Given the description of an element on the screen output the (x, y) to click on. 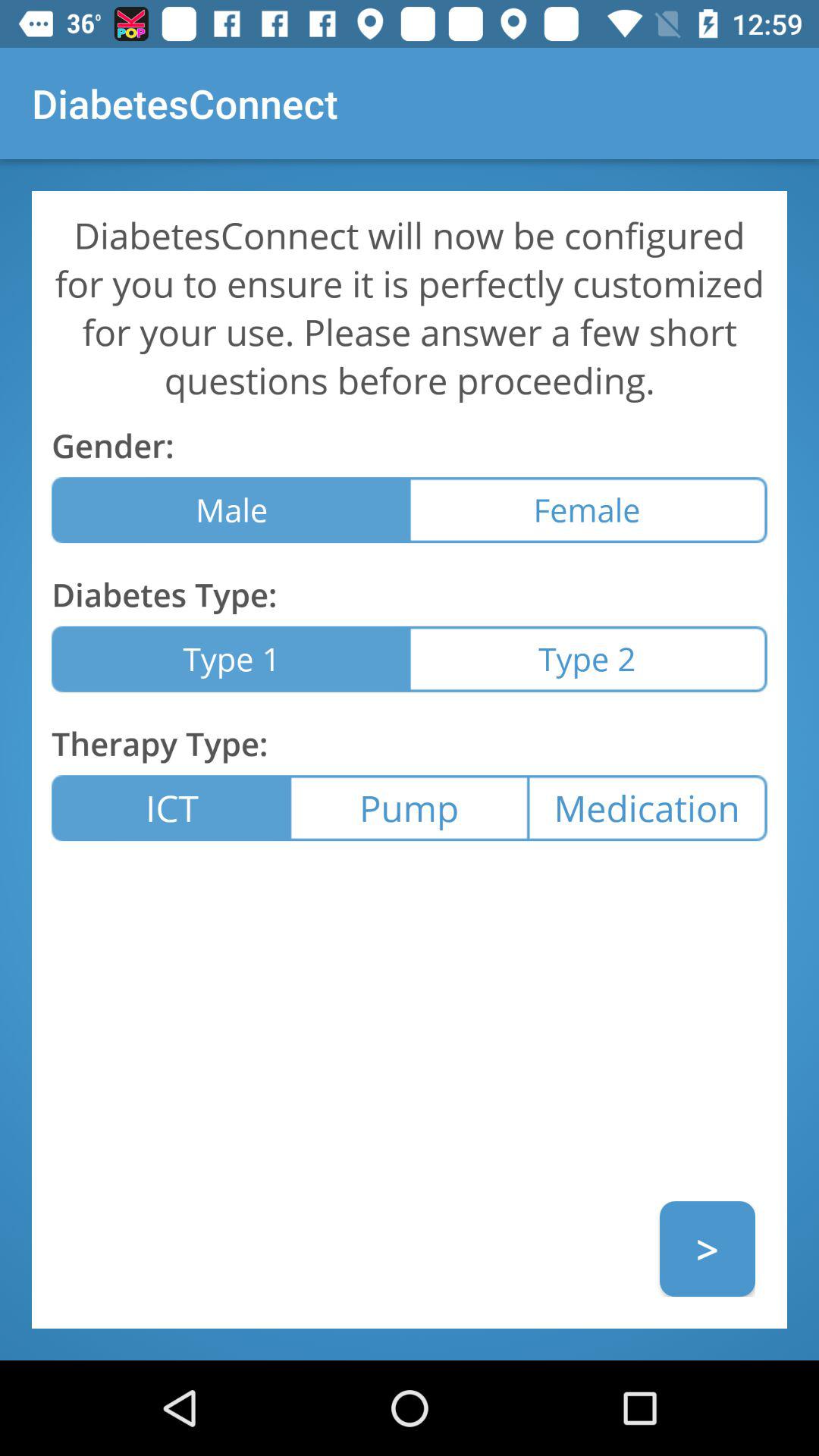
select the item to the left of the pump icon (170, 808)
